Given the description of an element on the screen output the (x, y) to click on. 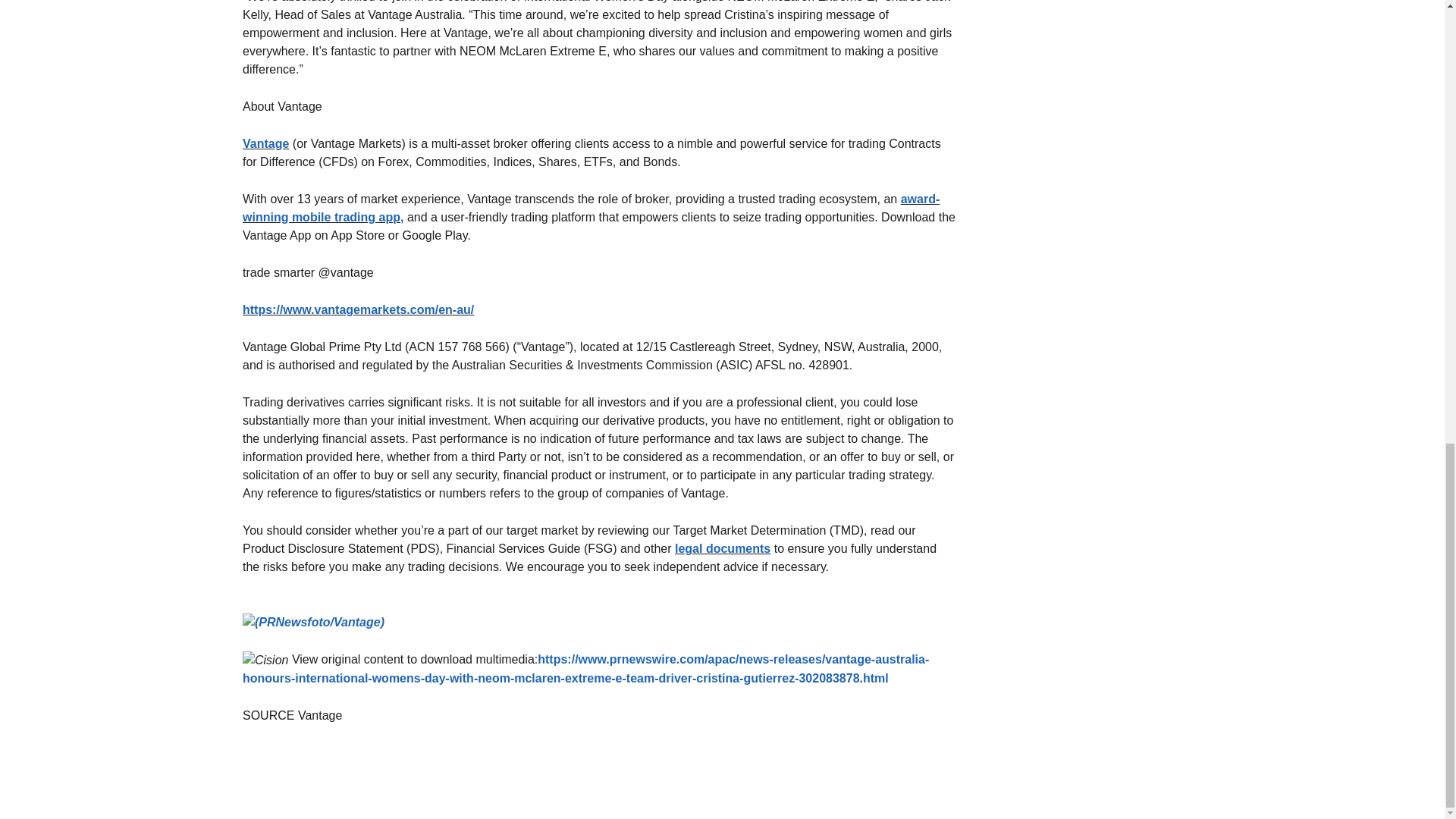
Cision (265, 660)
